Given the description of an element on the screen output the (x, y) to click on. 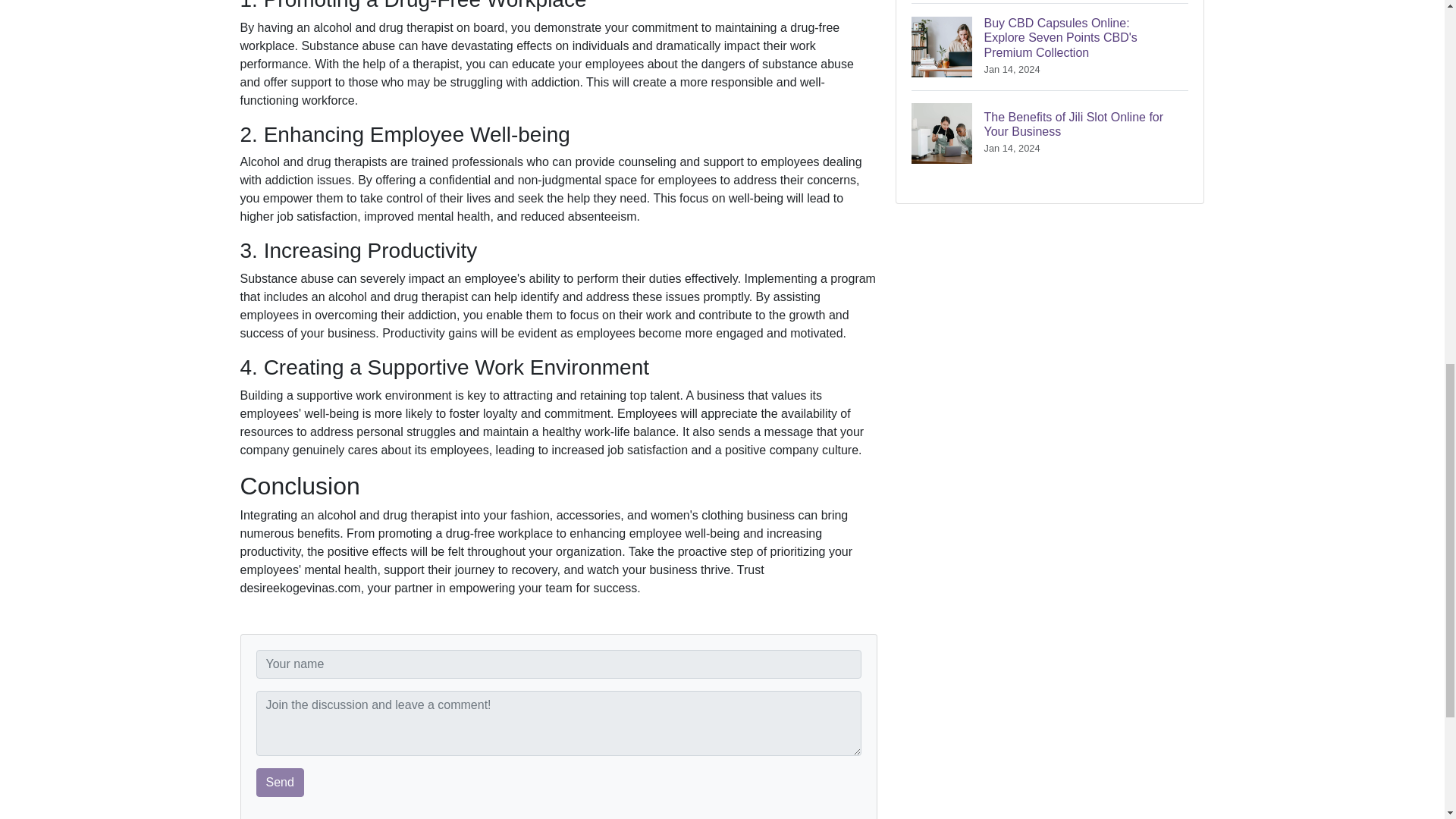
Send (280, 782)
Send (280, 782)
